Given the description of an element on the screen output the (x, y) to click on. 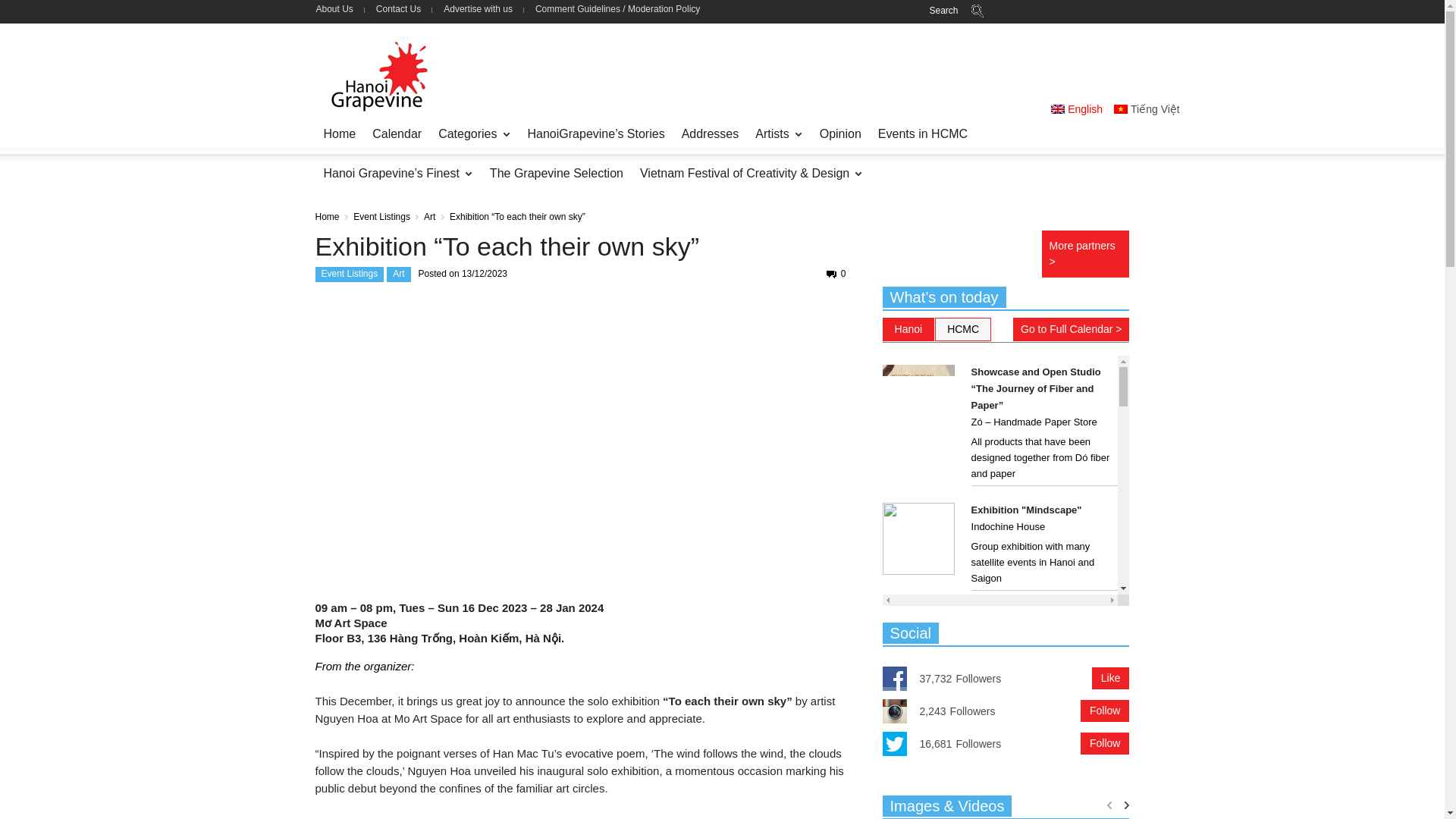
Search (1063, 10)
Contact Us (398, 9)
View all posts in Event Listings (381, 216)
Advertise with us (478, 9)
View all posts in Art (429, 216)
Events in HCMC (922, 133)
About Us (339, 9)
